Given the description of an element on the screen output the (x, y) to click on. 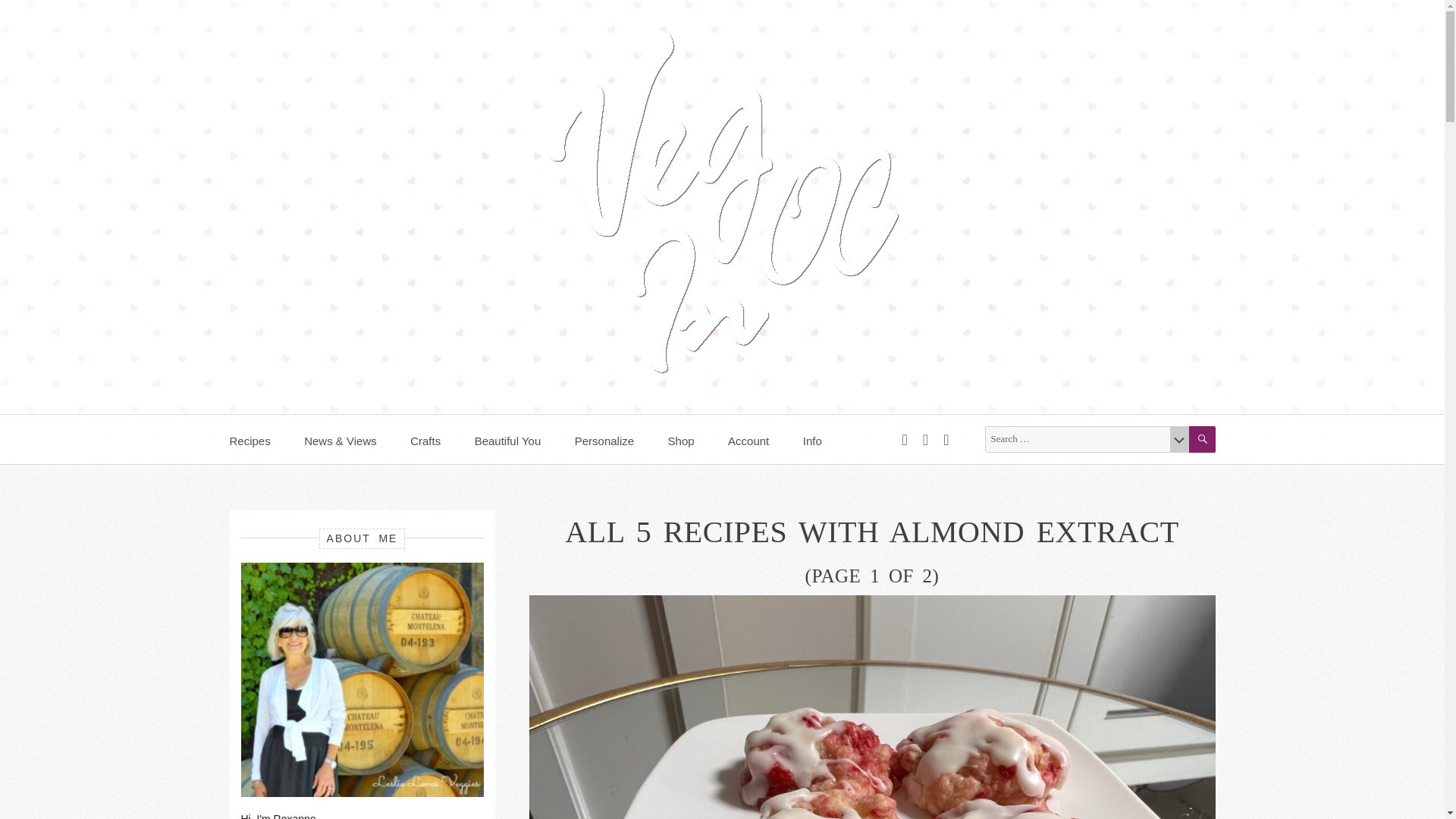
Info (827, 439)
Crafts (440, 439)
Account (763, 439)
Personalize (619, 439)
Beautiful You (523, 439)
Shop (696, 439)
Recipes (263, 439)
